Given the description of an element on the screen output the (x, y) to click on. 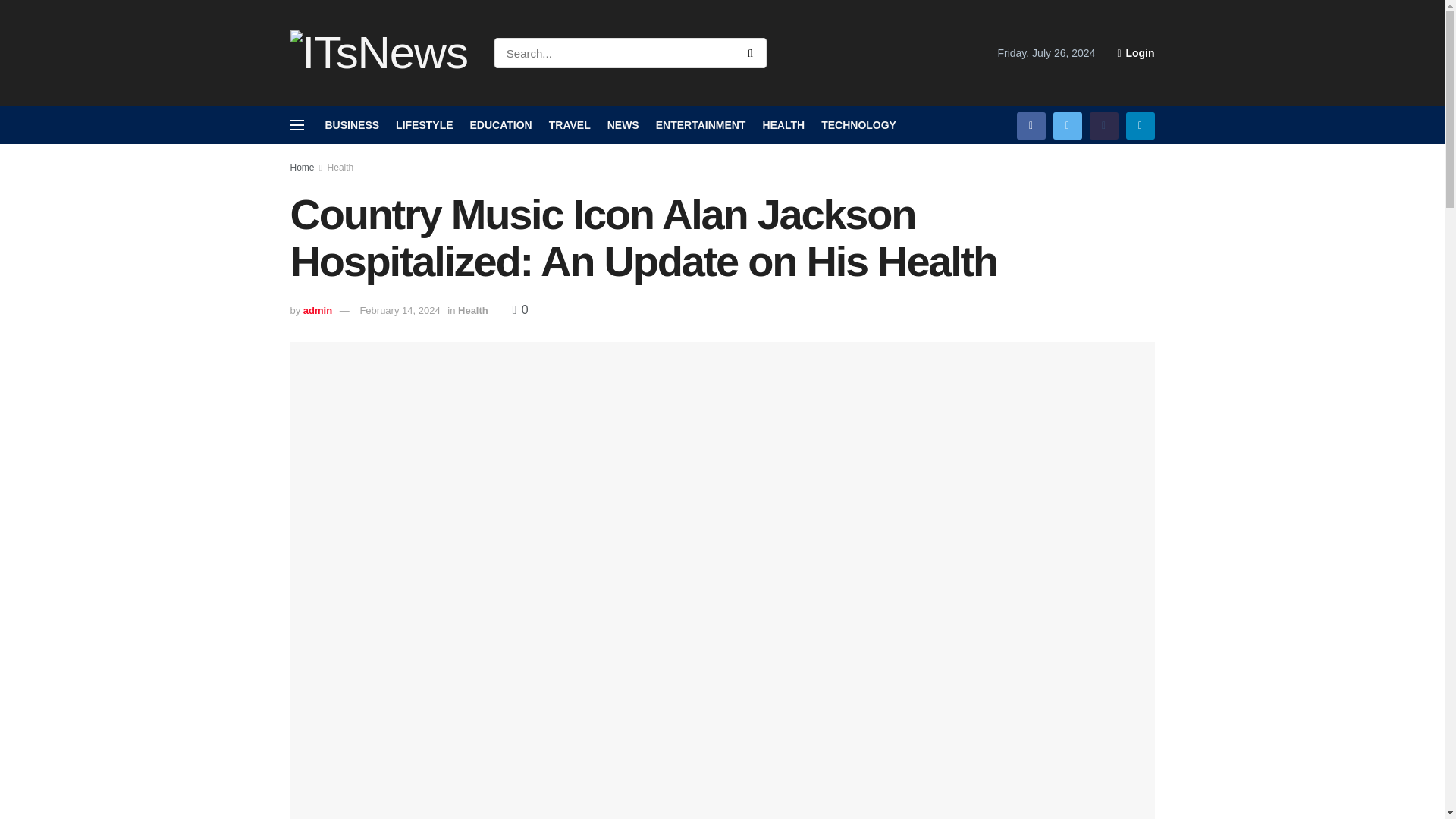
admin (316, 310)
ENTERTAINMENT (700, 125)
HEALTH (783, 125)
0 (519, 309)
EDUCATION (501, 125)
Login (1135, 53)
LIFESTYLE (424, 125)
TRAVEL (569, 125)
Health (340, 167)
BUSINESS (351, 125)
February 14, 2024 (399, 310)
Home (301, 167)
Health (472, 310)
TECHNOLOGY (858, 125)
